Given the description of an element on the screen output the (x, y) to click on. 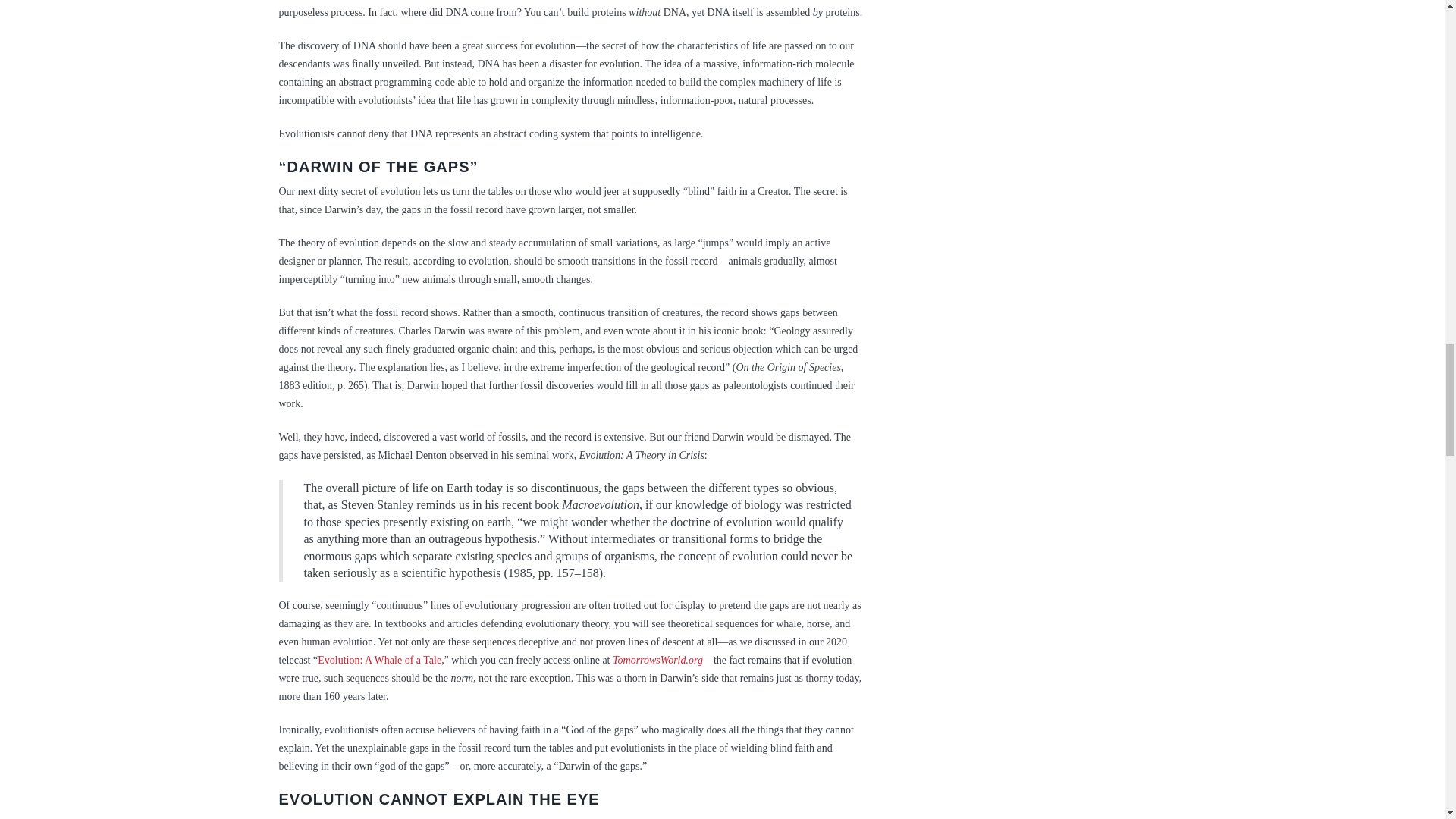
Evolution: A Whale of a Tale (379, 659)
TomorrowsWorld.org (657, 659)
